Given the description of an element on the screen output the (x, y) to click on. 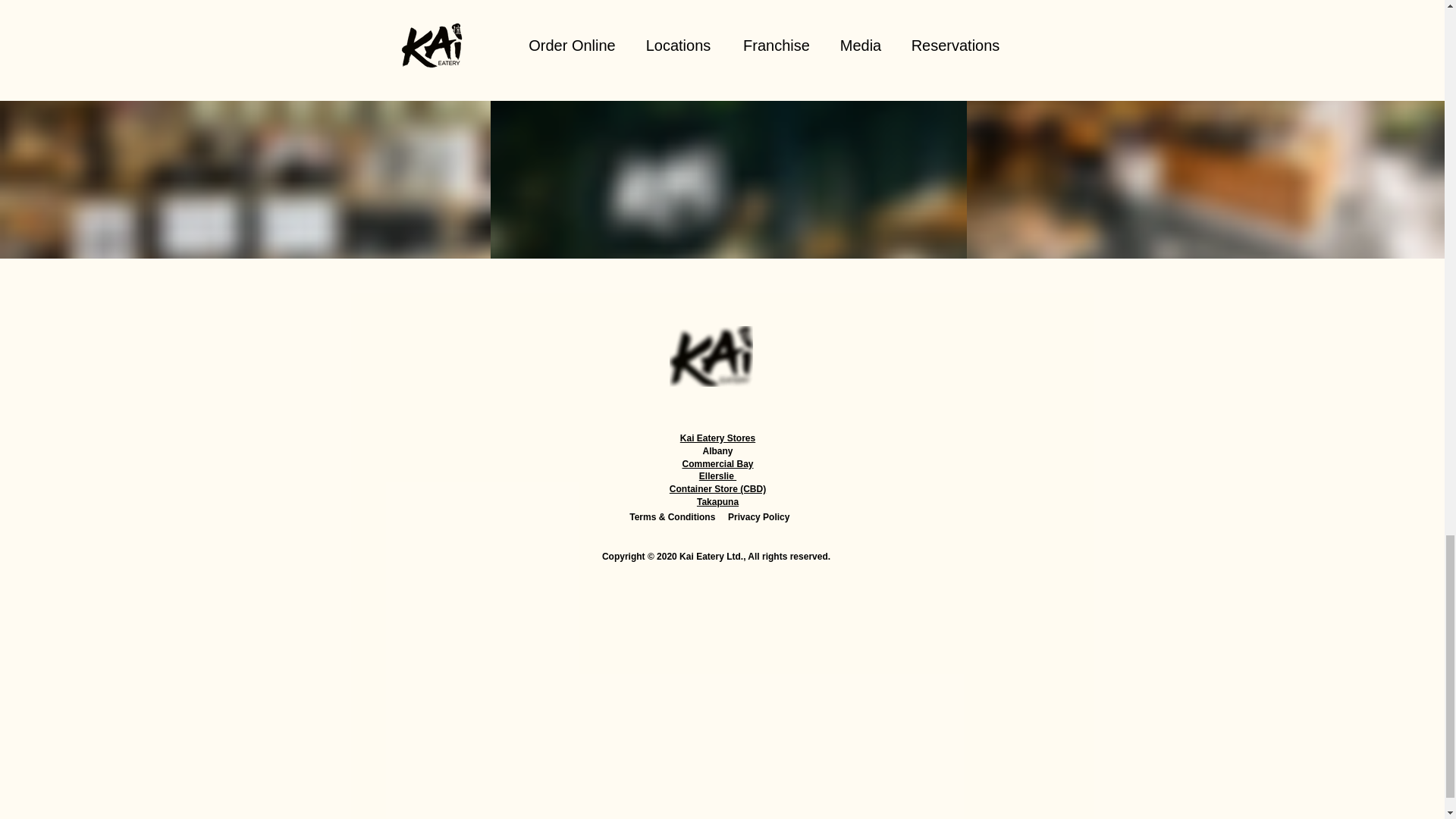
Kai Eatery Stores (717, 438)
Privacy Policy (758, 516)
Ellerslie  (717, 475)
Commercial Bay (716, 463)
Takapuna (717, 501)
